Given the description of an element on the screen output the (x, y) to click on. 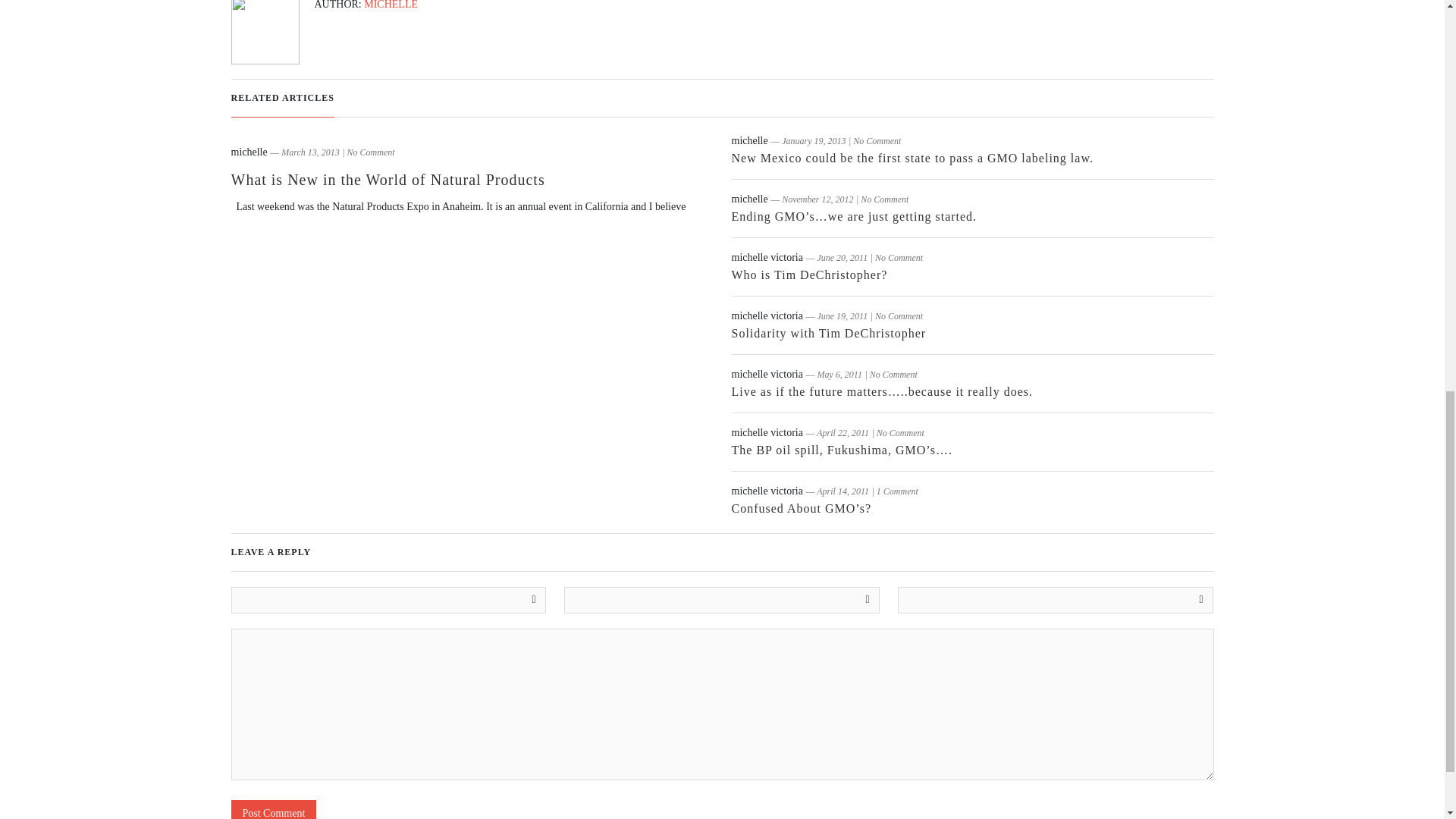
No Comment (877, 140)
No Comment (893, 374)
Solidarity with Tim DeChristopher (828, 332)
Who is Tim DeChristopher? (808, 274)
No Comment (370, 152)
Post Comment (272, 809)
No Comment (899, 316)
MICHELLE (390, 4)
1 Comment (897, 491)
